Given the description of an element on the screen output the (x, y) to click on. 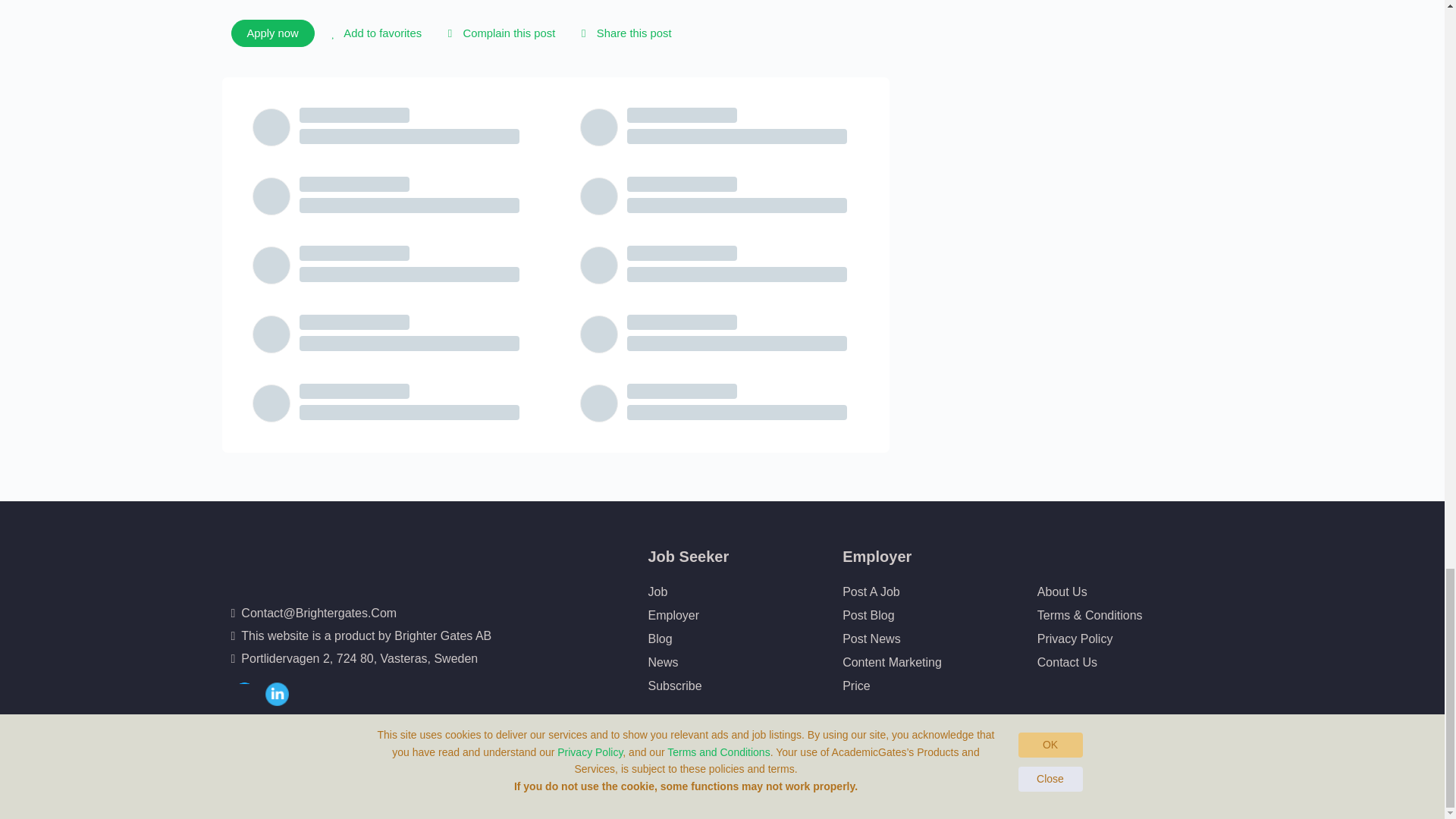
Share this post (623, 33)
Add to favorites (374, 33)
Complain this post (498, 33)
Apply now (272, 32)
